Given the description of an element on the screen output the (x, y) to click on. 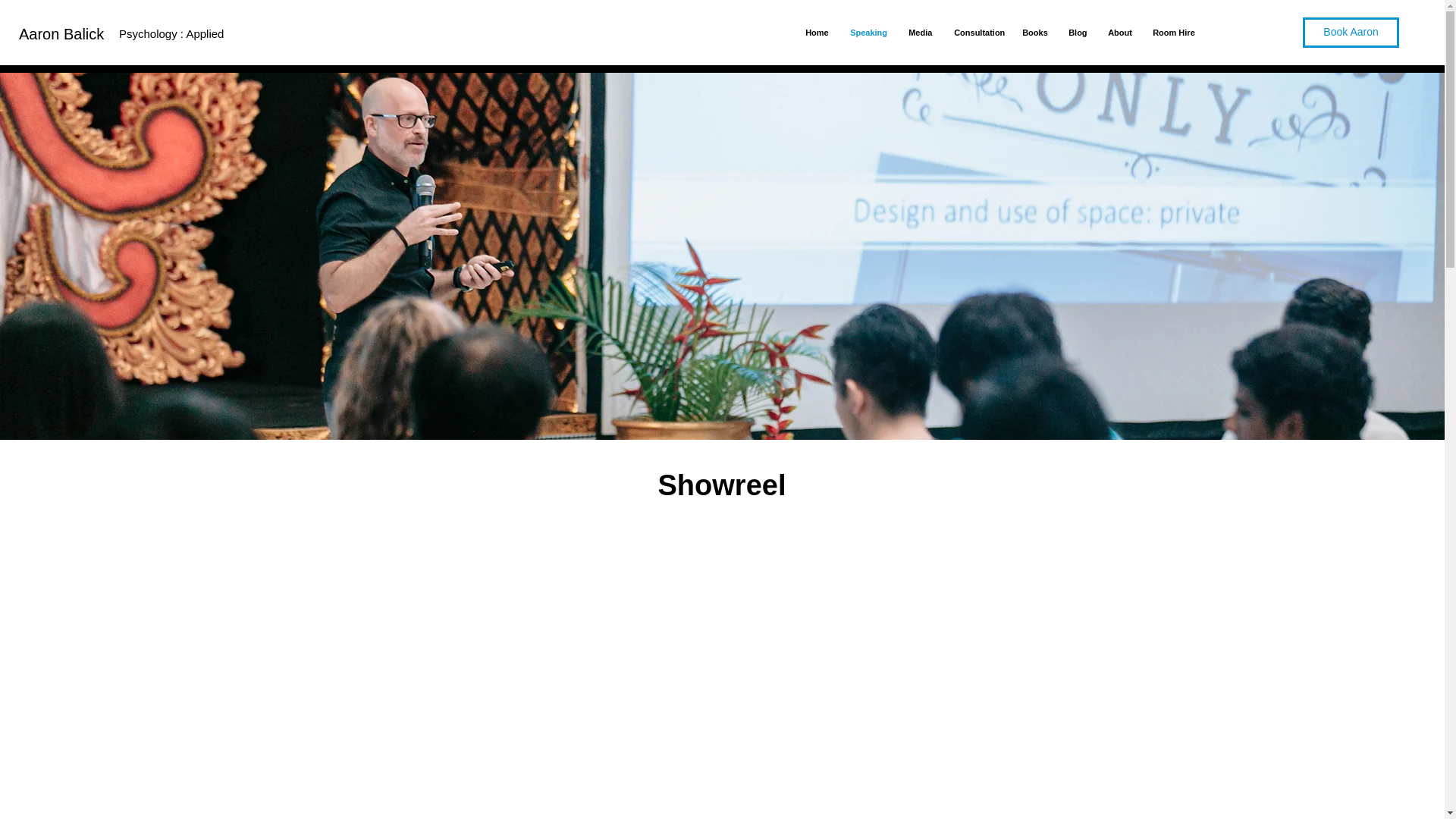
Room Hire (1171, 32)
Aaron Balick (60, 33)
Speaking (867, 32)
Blog (1076, 32)
Book Aaron (1351, 32)
About (1118, 32)
Media (919, 32)
Books (1033, 32)
Psychology : Applied (171, 33)
Home (815, 32)
